Given the description of an element on the screen output the (x, y) to click on. 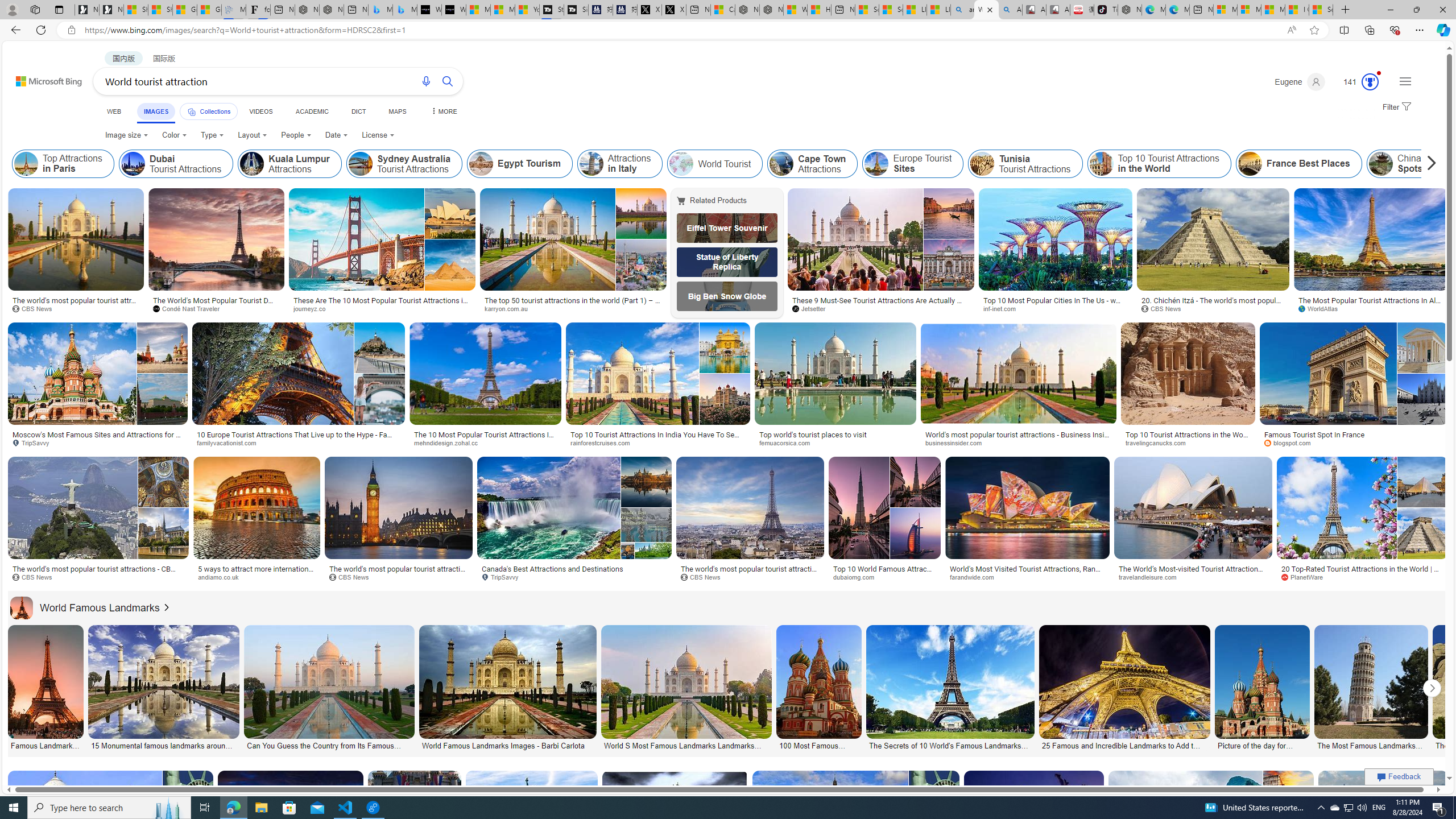
IMAGES (156, 112)
Famous Landmarks in the world Famous Landmarks in the world (44, 687)
Settings and quick links (1404, 80)
femuacorsica.com (834, 442)
Famous Tourist Spot In France (1314, 434)
Cape Town Attractions (812, 163)
